Given the description of an element on the screen output the (x, y) to click on. 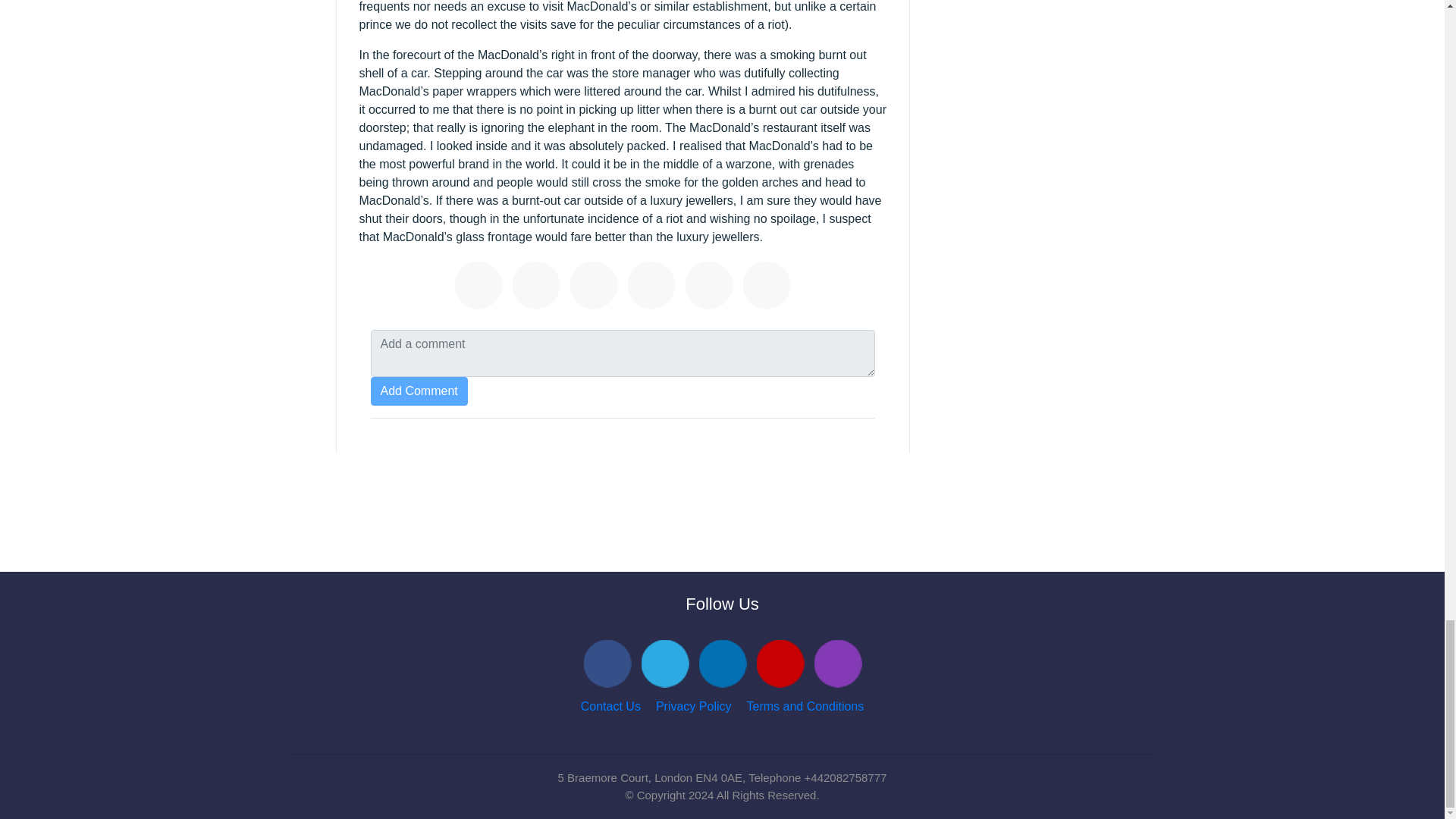
Pretentious Service (654, 287)
Pretentious Service (596, 287)
Pretentious Service (711, 287)
Pretentious Service (481, 287)
Contact Us (610, 706)
Add Comment (418, 390)
Pretentious Service (539, 287)
Pretentious Service (769, 287)
